Given the description of an element on the screen output the (x, y) to click on. 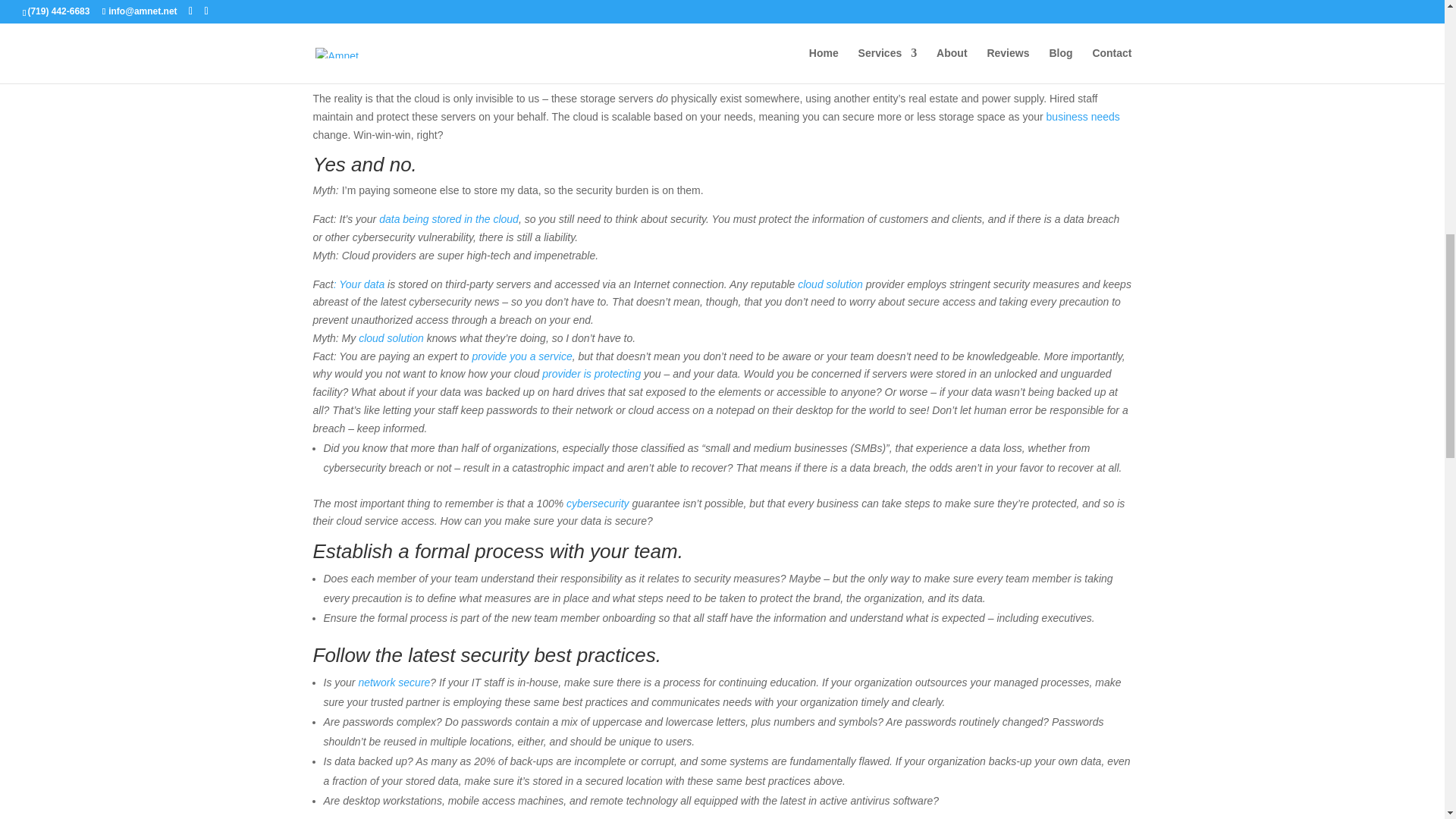
data being stored in the cloud (448, 218)
business needs (1082, 116)
cloud solution (390, 337)
bottom line (765, 51)
cloud solution (830, 283)
: Your data (358, 283)
provide you a service (521, 356)
cybersecurity (597, 503)
network secure (393, 682)
provider is protecting (590, 373)
